Given the description of an element on the screen output the (x, y) to click on. 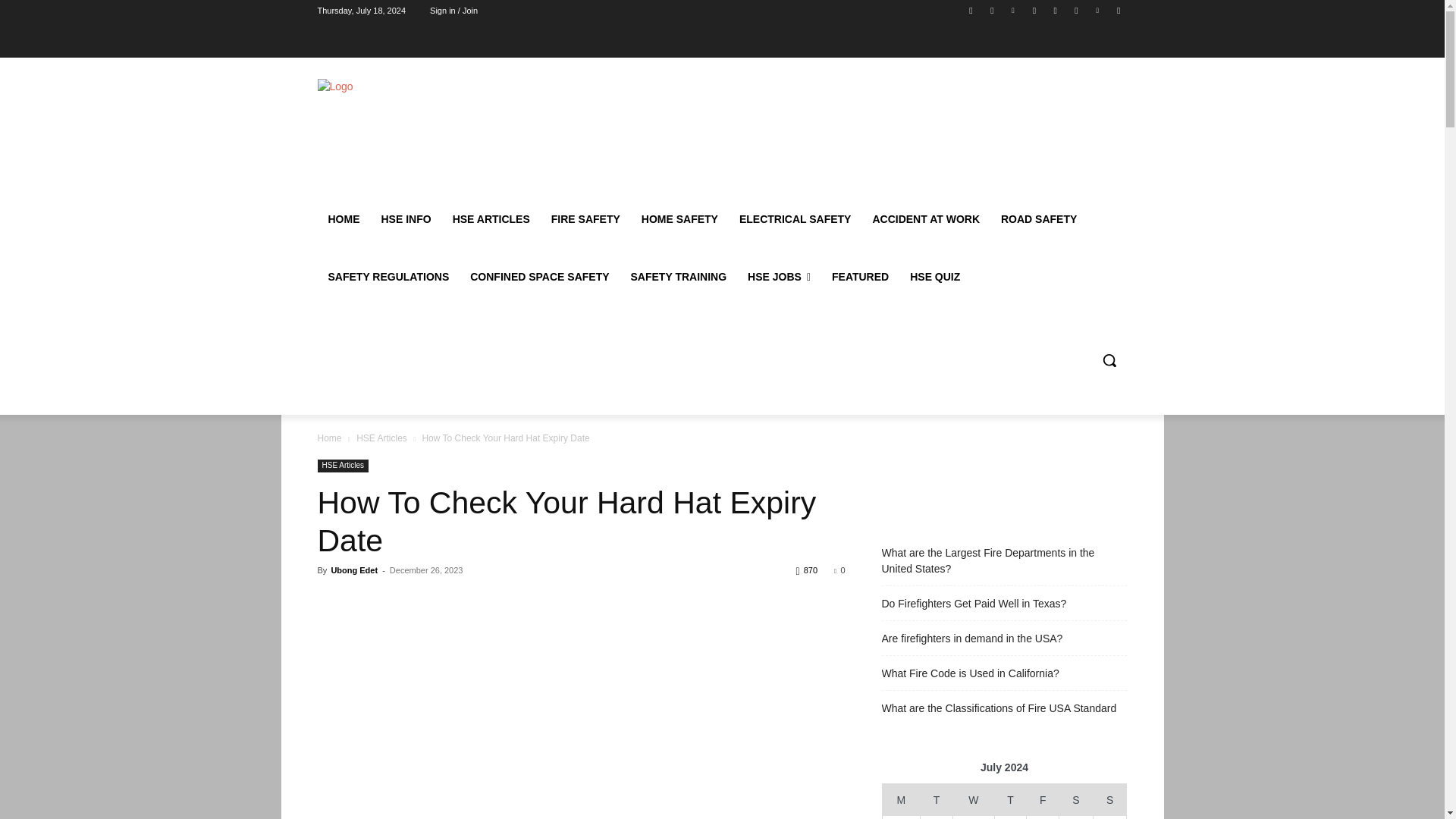
Mail (1034, 9)
Twitter (1075, 9)
Facebook (970, 9)
HSE INFO (405, 219)
Youtube (1117, 9)
Linkedin (1013, 9)
HOME (343, 219)
Vimeo (1097, 9)
Medium (1055, 9)
View all posts in HSE Articles (381, 438)
Instagram (992, 9)
